Given the description of an element on the screen output the (x, y) to click on. 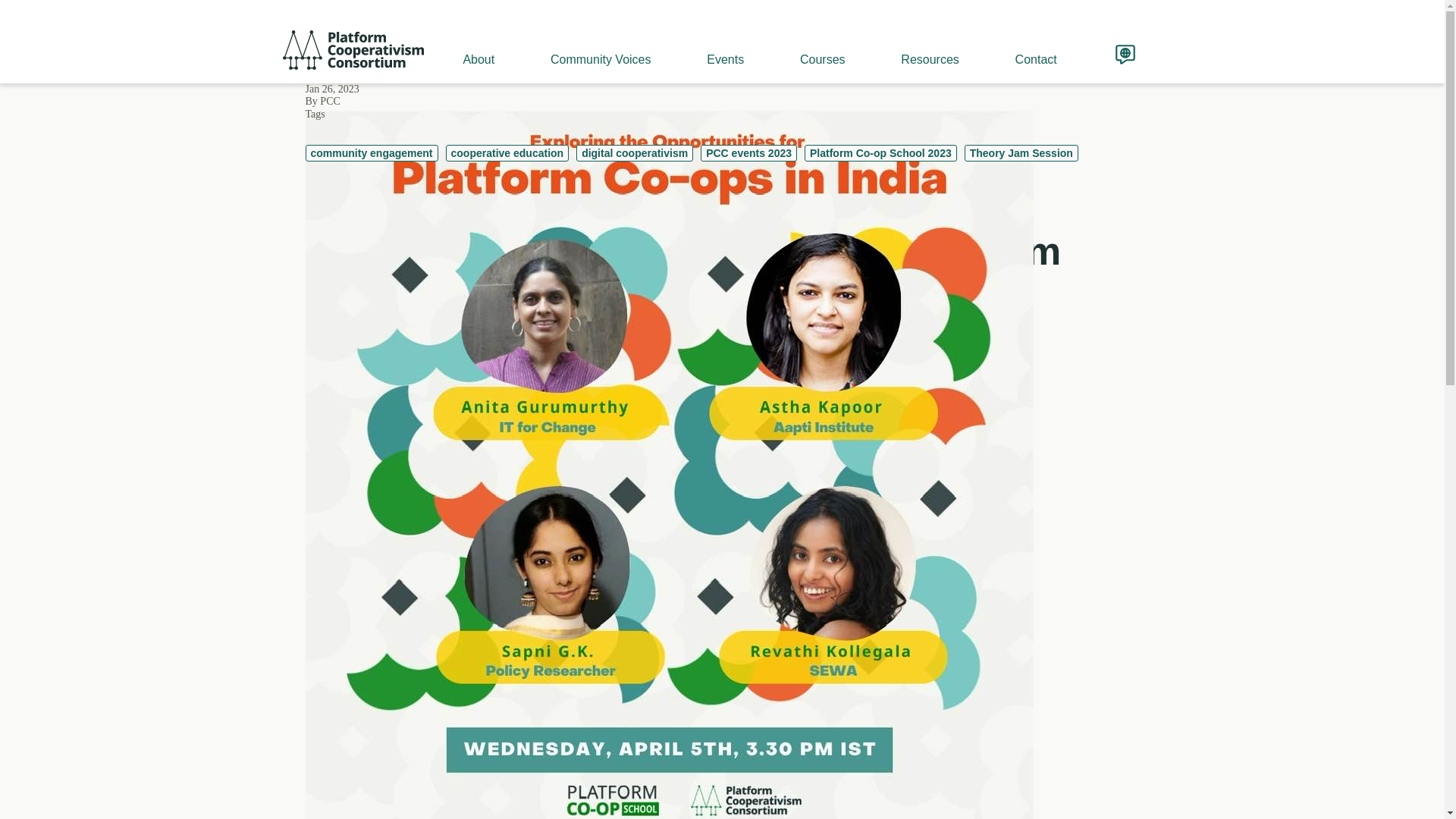
Events (724, 59)
Community Voices (599, 59)
Courses (820, 59)
Resources (928, 59)
About (477, 59)
Contact (1035, 59)
